Given the description of an element on the screen output the (x, y) to click on. 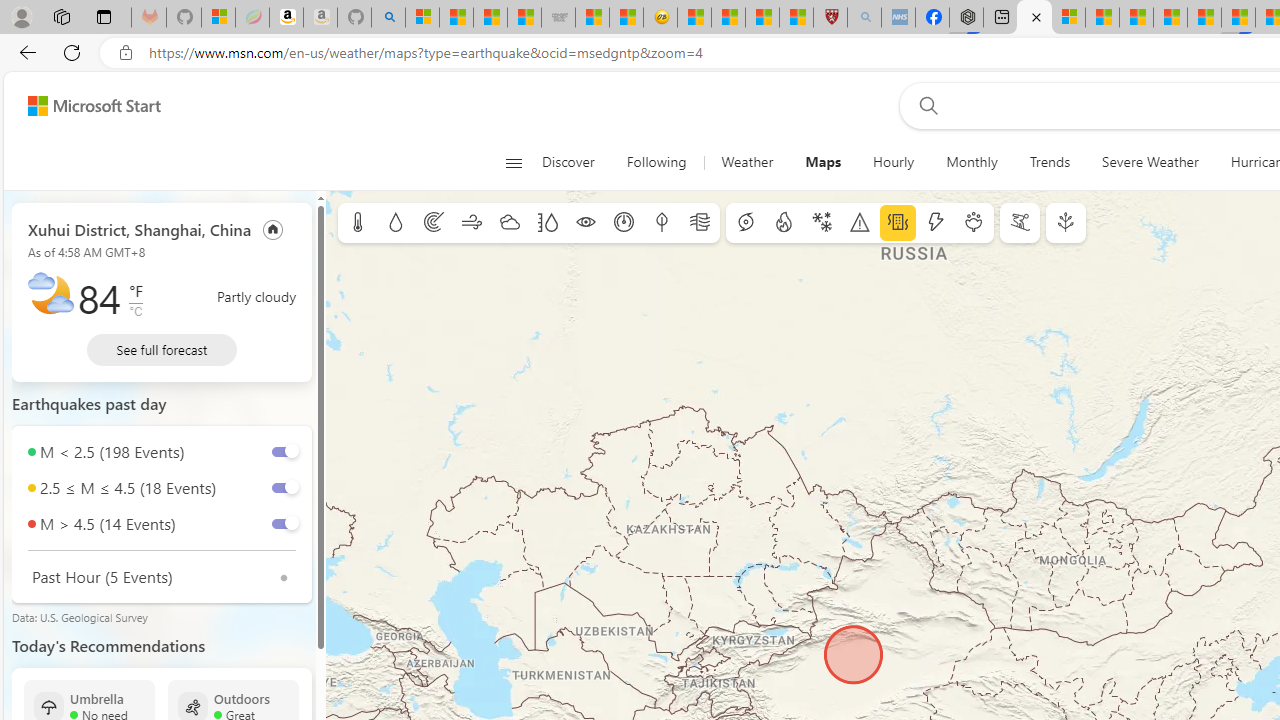
Clouds (509, 223)
Trends (1050, 162)
Microsoft Start (1101, 17)
Severe Weather (1150, 162)
list of asthma inhalers uk - Search - Sleeping (863, 17)
Earthquake (898, 223)
Skip to footer (82, 105)
Personal Profile (21, 16)
Robert H. Shmerling, MD - Harvard Health (830, 17)
Air quality (700, 223)
View site information (125, 53)
Wind (472, 223)
Precipitation (395, 223)
Open navigation menu (513, 162)
